Given the description of an element on the screen output the (x, y) to click on. 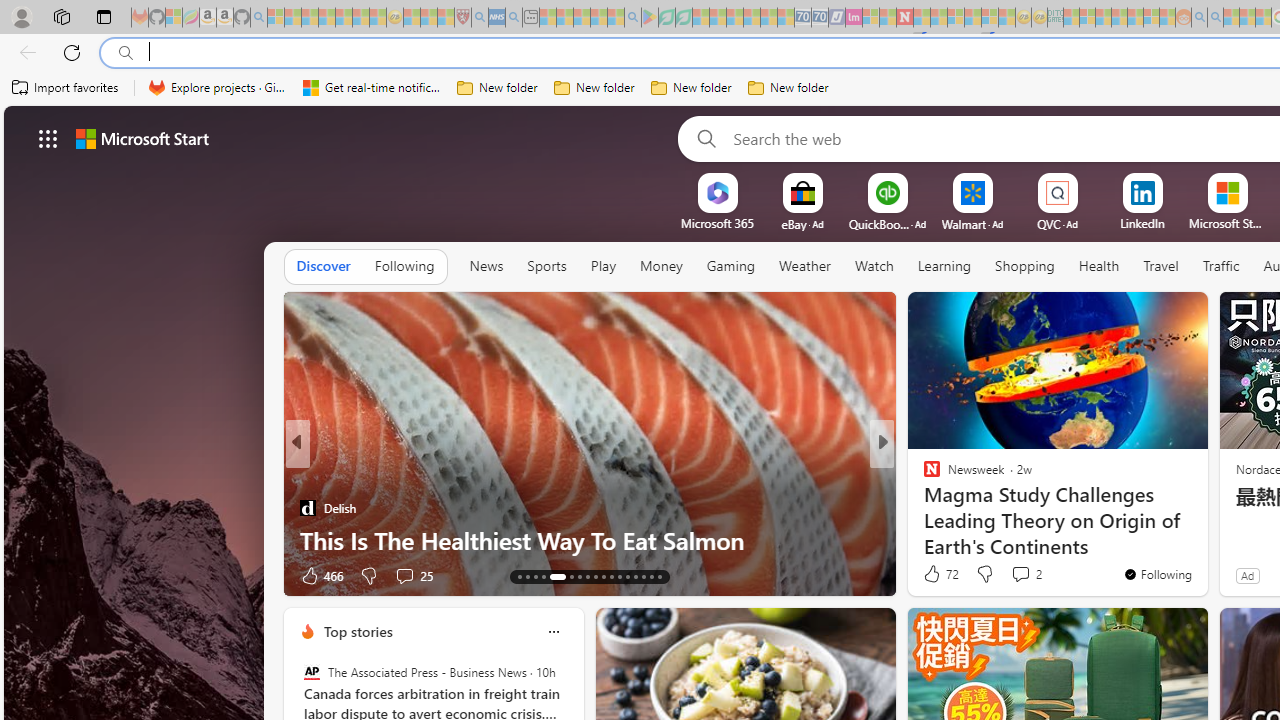
Search icon (125, 53)
View comments 6 Comment (1019, 575)
Ad (1247, 575)
Sports (546, 267)
View comments 4 Comment (1014, 575)
43 Like (934, 574)
93 Like (934, 574)
DITOGAMES AG Imprint - Sleeping (1055, 17)
72 Like (939, 574)
Money (661, 267)
AutomationID: tab-21 (595, 576)
AutomationID: tab-20 (586, 576)
